Given the description of an element on the screen output the (x, y) to click on. 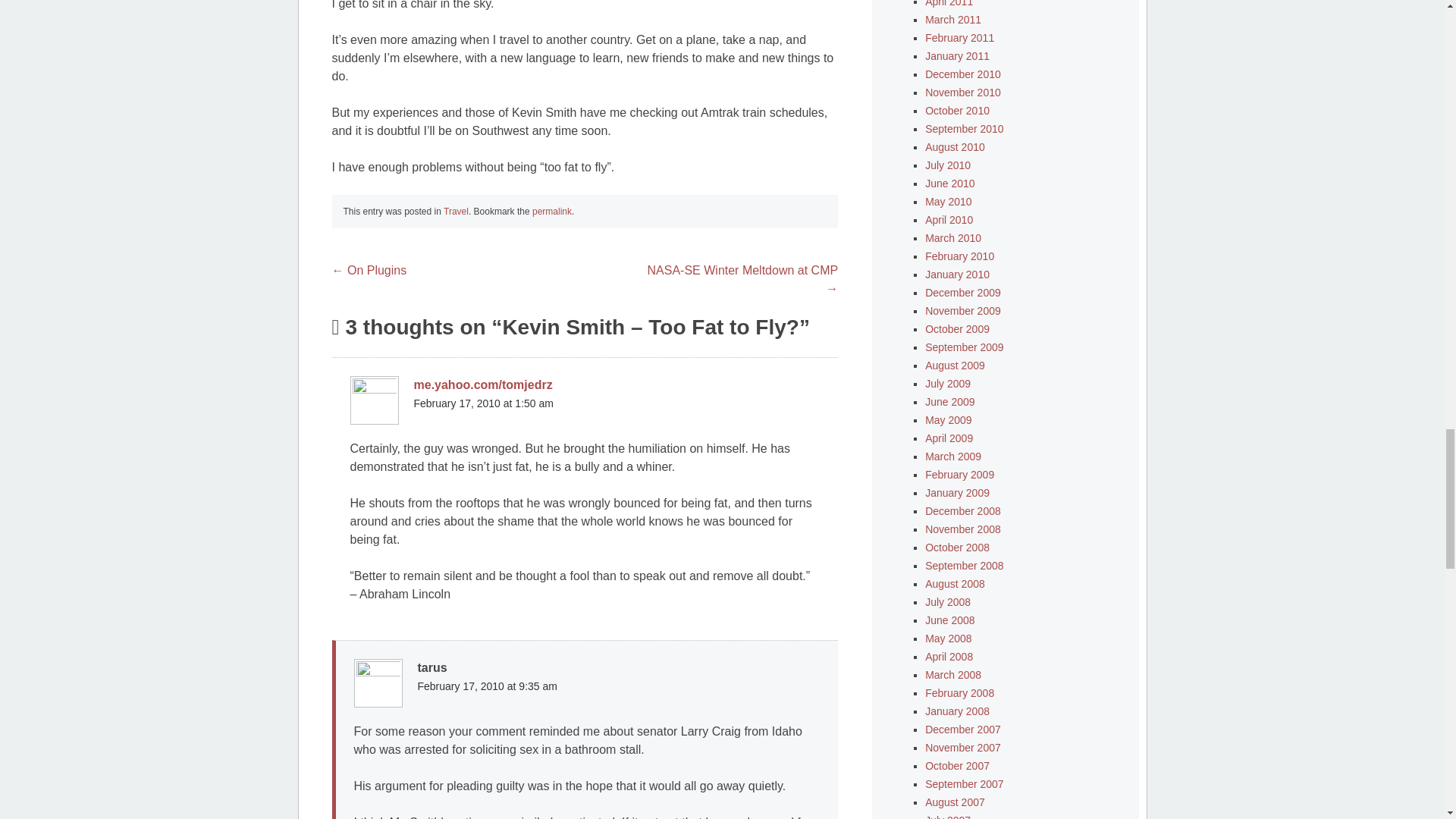
February 17, 2010 at 9:35 am (486, 686)
February 17, 2010 at 1:50 am (483, 403)
permalink (552, 211)
Travel (456, 211)
